Given the description of an element on the screen output the (x, y) to click on. 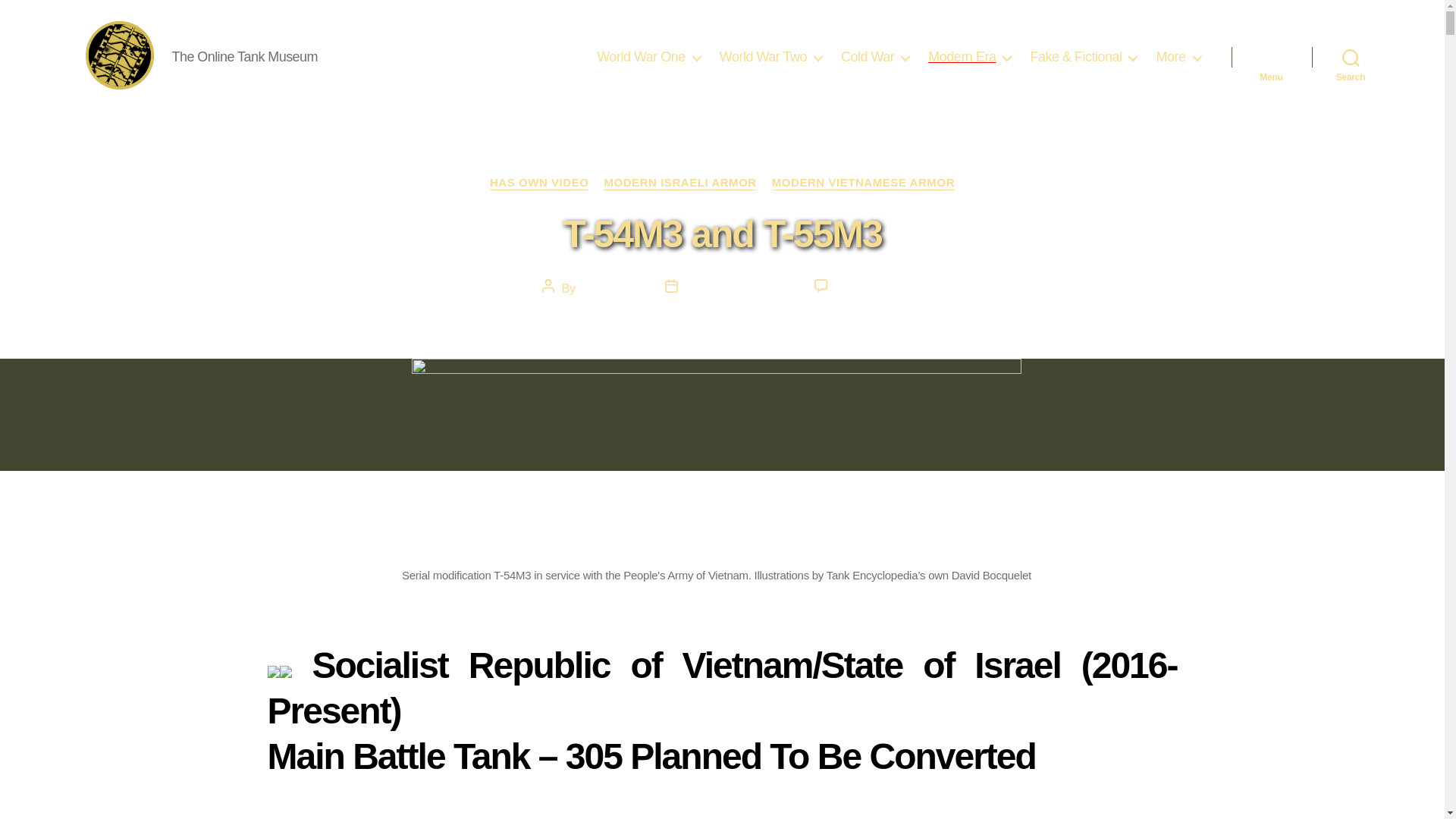
World War One (648, 57)
World War Two (770, 57)
